Given the description of an element on the screen output the (x, y) to click on. 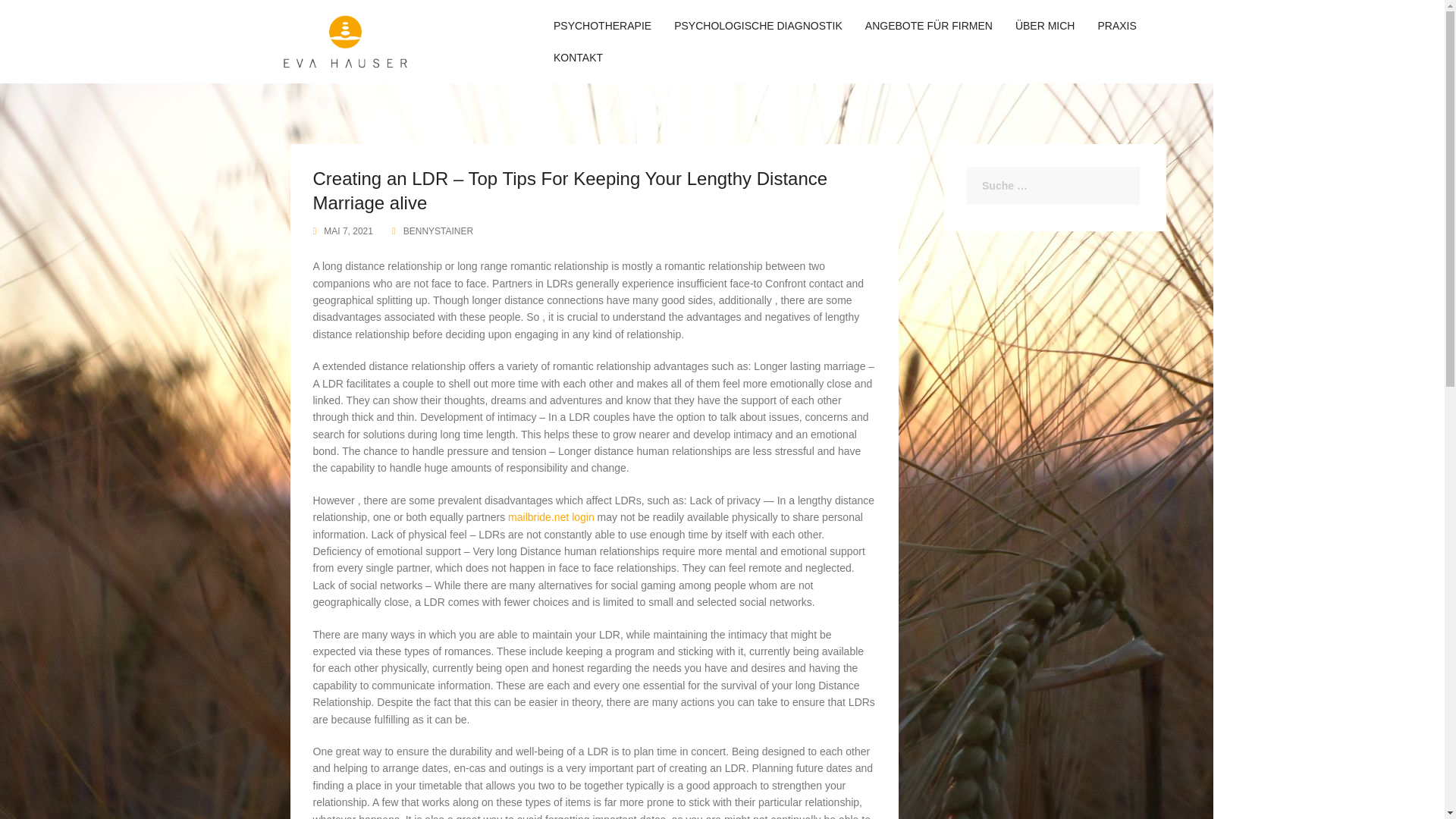
Eva Hauser (345, 40)
mailbride.net login (551, 517)
KONTAKT (577, 57)
BENNYSTAINER (438, 231)
PSYCHOTHERAPIE (601, 25)
PSYCHOLOGISCHE DIAGNOSTIK (757, 25)
MAI 7, 2021 (347, 231)
Suche (48, 20)
PRAXIS (1116, 25)
